Given the description of an element on the screen output the (x, y) to click on. 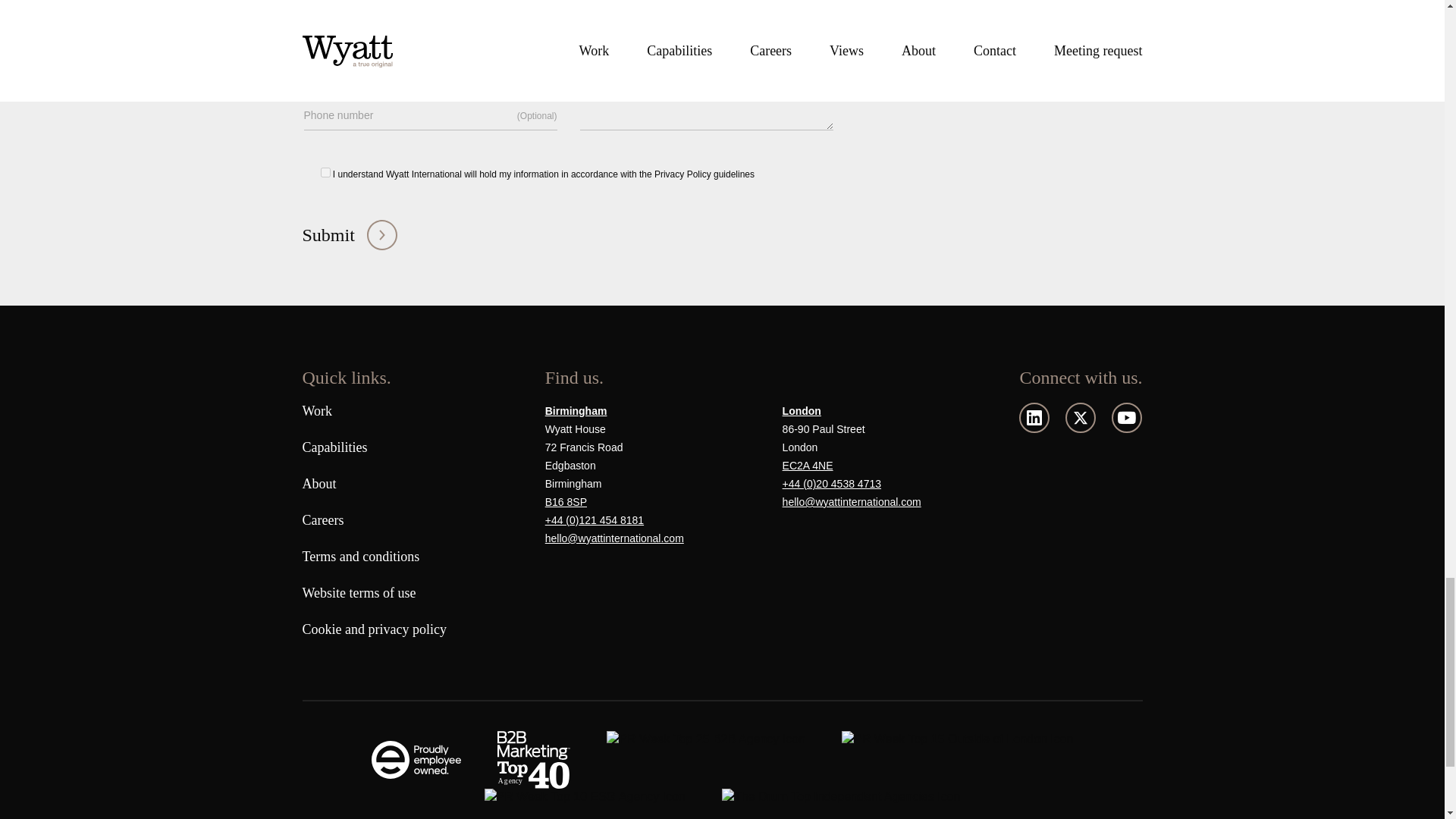
Wyatt International on LinkedIn (1034, 417)
Birmingham (575, 412)
Work (316, 410)
Submit (348, 235)
Capabilities (333, 447)
London (802, 412)
Wyatt International on YouTube (1126, 417)
Wyatt International on X (1080, 417)
Terms and conditions (360, 556)
